Given the description of an element on the screen output the (x, y) to click on. 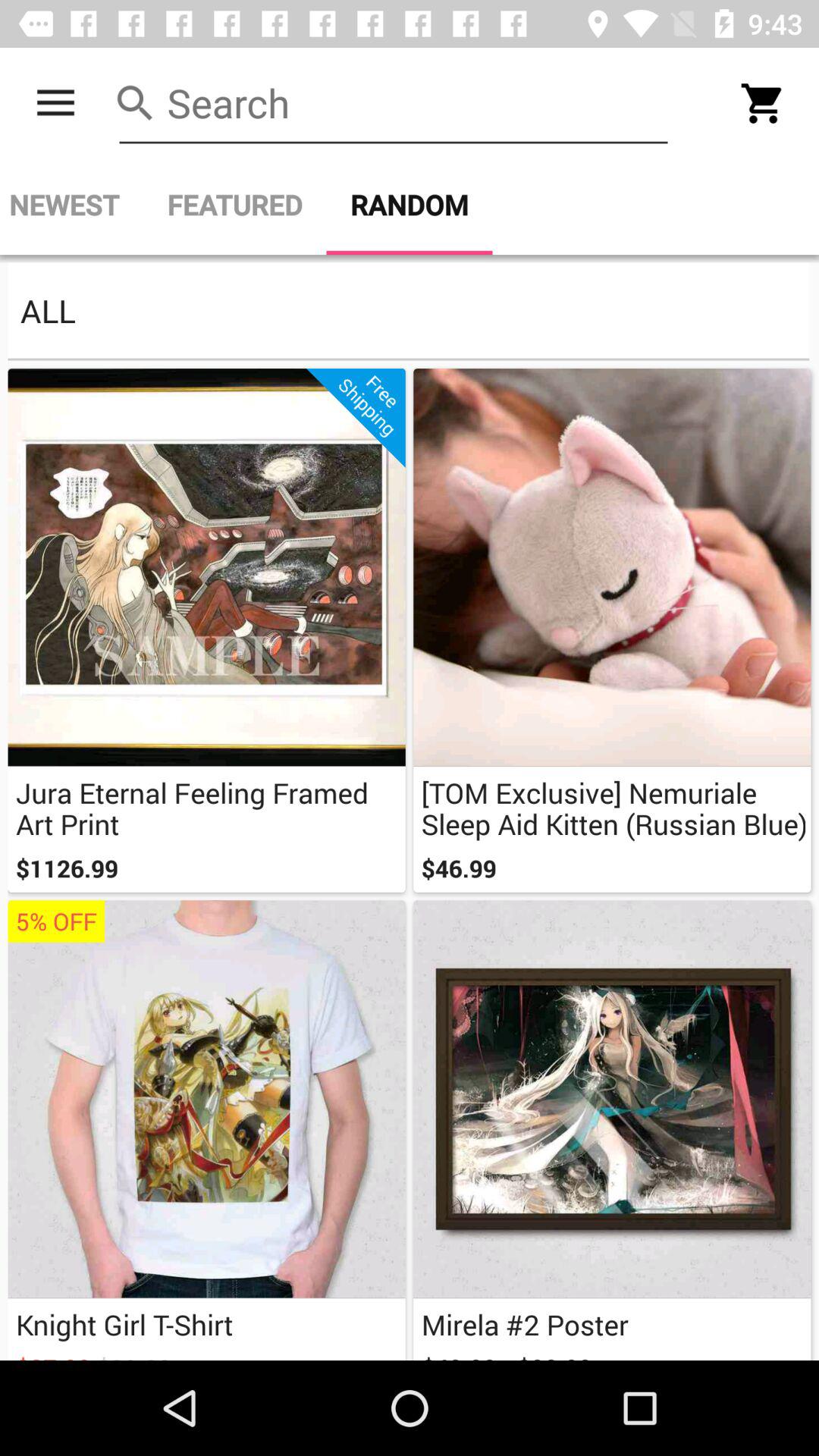
turn on the random (409, 204)
